Given the description of an element on the screen output the (x, y) to click on. 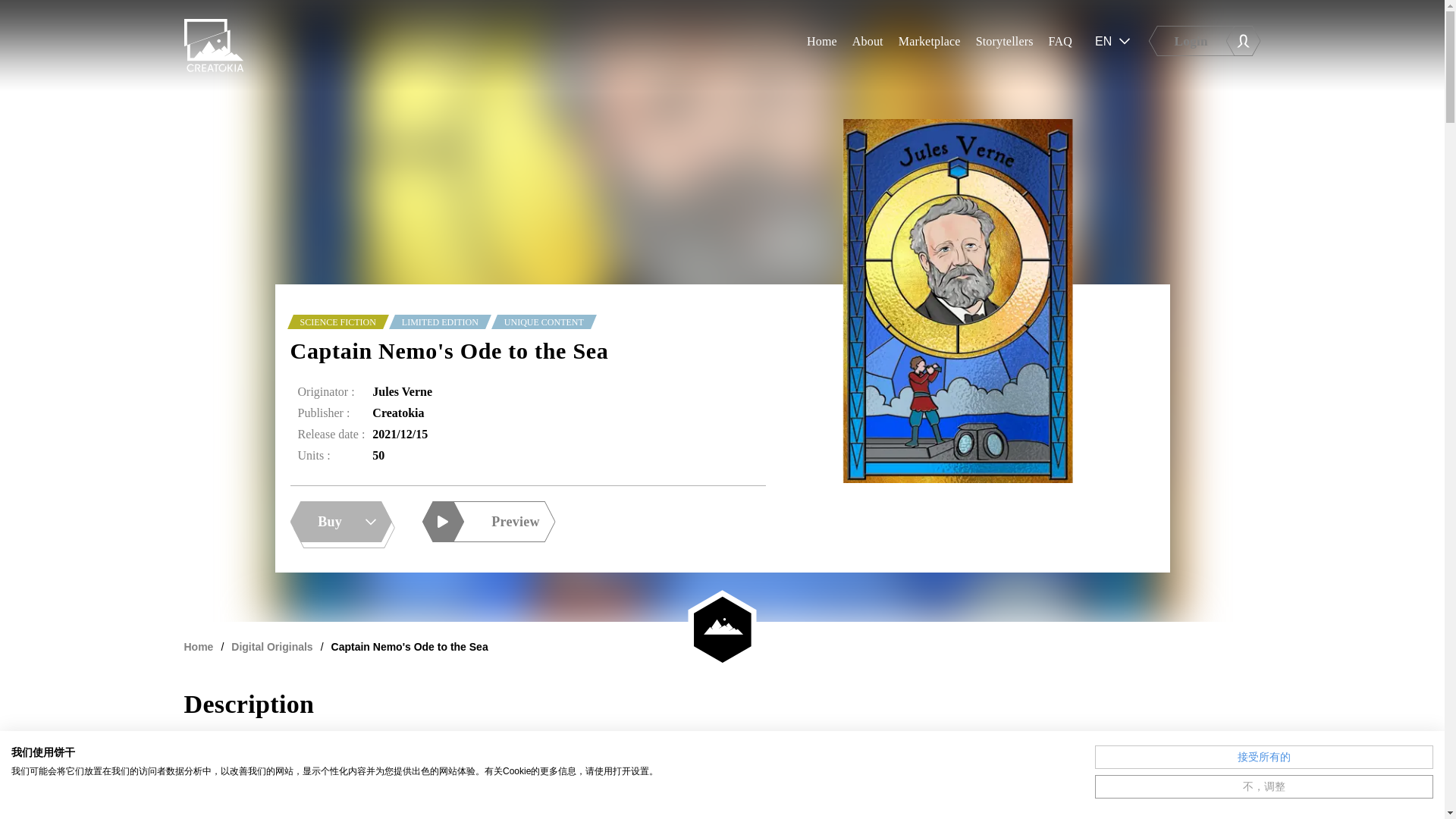
Home (821, 44)
Buy (340, 521)
Captain Nemo's Ode to the Sea (409, 646)
About (867, 44)
Login (1218, 44)
Home (197, 646)
Storytellers (1004, 44)
Preview (489, 521)
Digital Originals (272, 646)
Marketplace (929, 44)
FAQ (1059, 44)
